Given the description of an element on the screen output the (x, y) to click on. 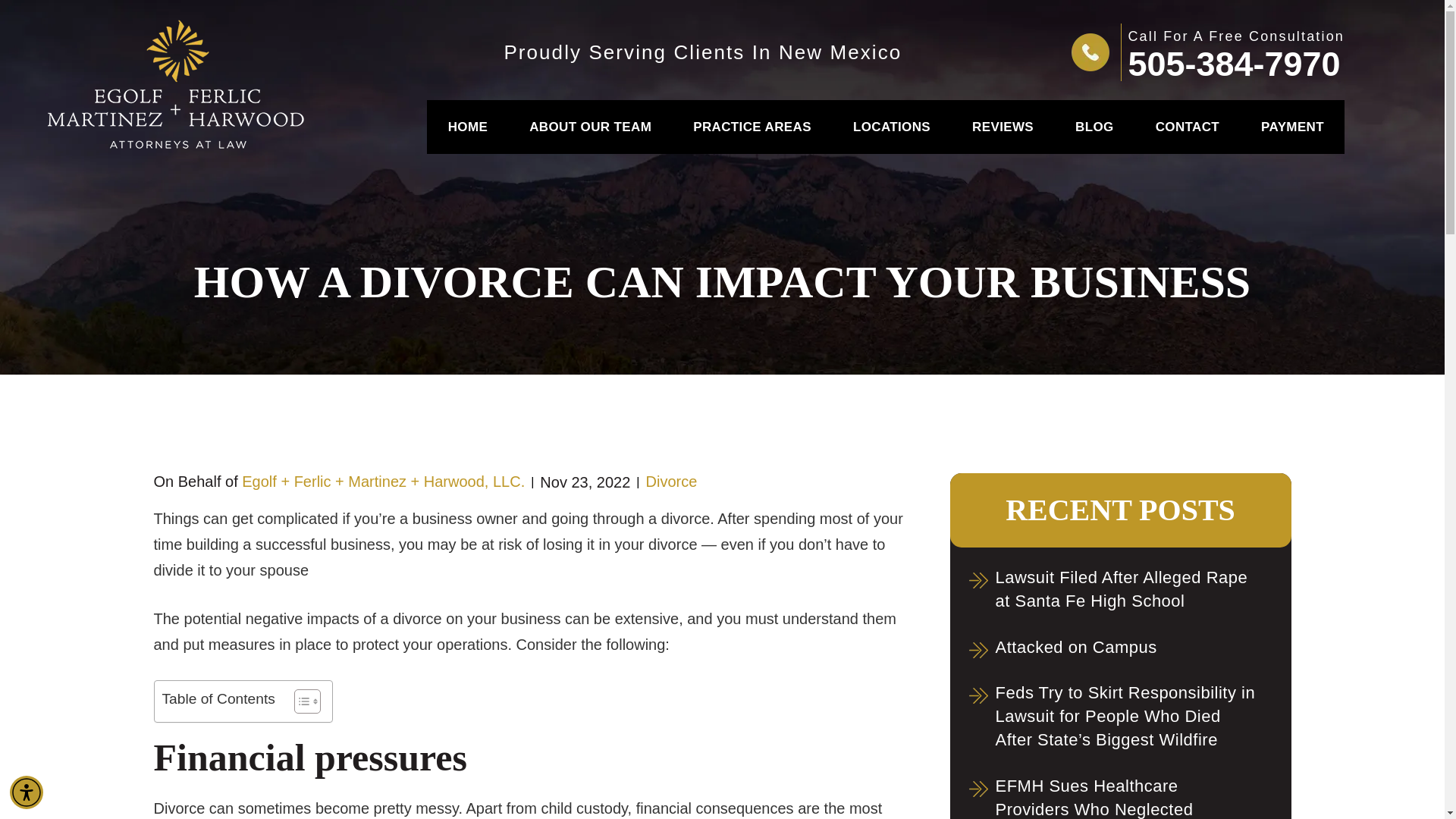
LOCATIONS (890, 126)
PRACTICE AREAS (751, 126)
REVIEWS (1002, 126)
ABOUT OUR TEAM (589, 126)
Accessibility Menu (26, 792)
HOME (467, 126)
505-384-7970 (1234, 63)
